Given the description of an element on the screen output the (x, y) to click on. 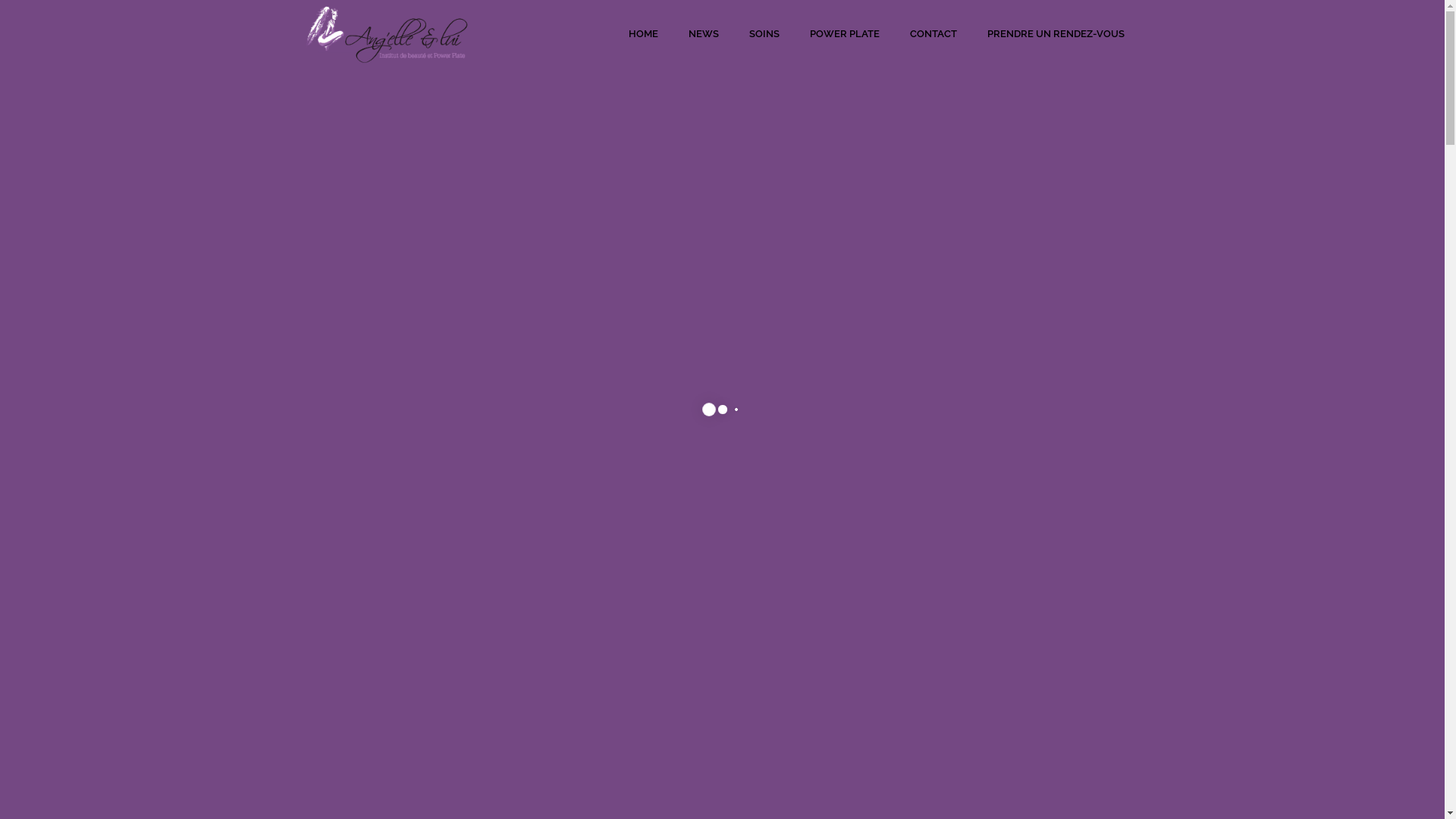
CONTACT Element type: text (933, 34)
SOINS Element type: text (764, 34)
POWER PLATE Element type: text (844, 34)
HOME Element type: text (642, 34)
PRENDRE UN RENDEZ-VOUS Element type: text (1055, 34)
NEWS Element type: text (703, 34)
